Given the description of an element on the screen output the (x, y) to click on. 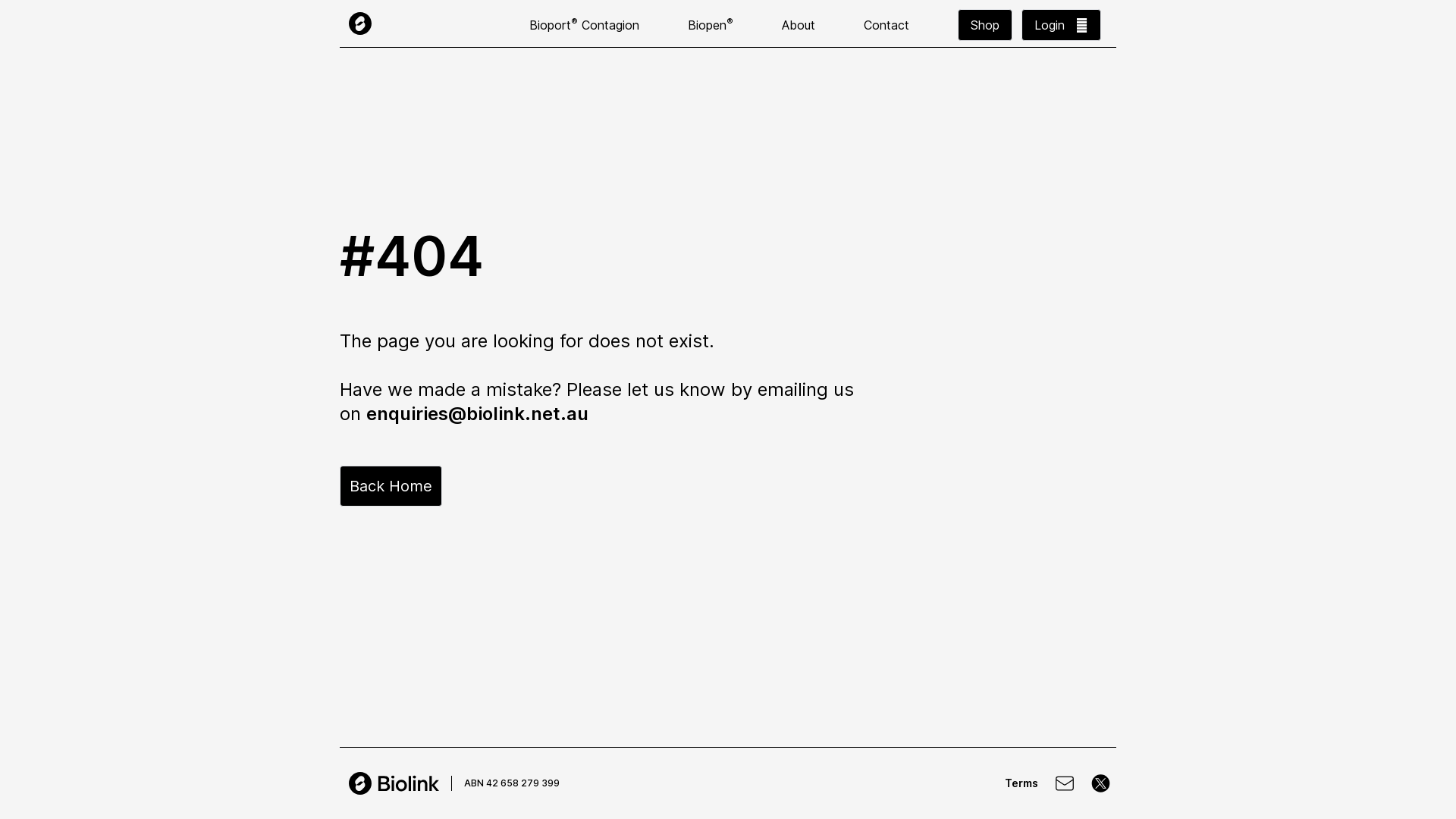
Contact Element type: text (886, 24)
Back Home Element type: text (390, 485)
enquiries@biolink.net.au Element type: text (477, 413)
Terms Element type: text (1021, 782)
About Element type: text (798, 24)
Shop Element type: text (984, 24)
